Given the description of an element on the screen output the (x, y) to click on. 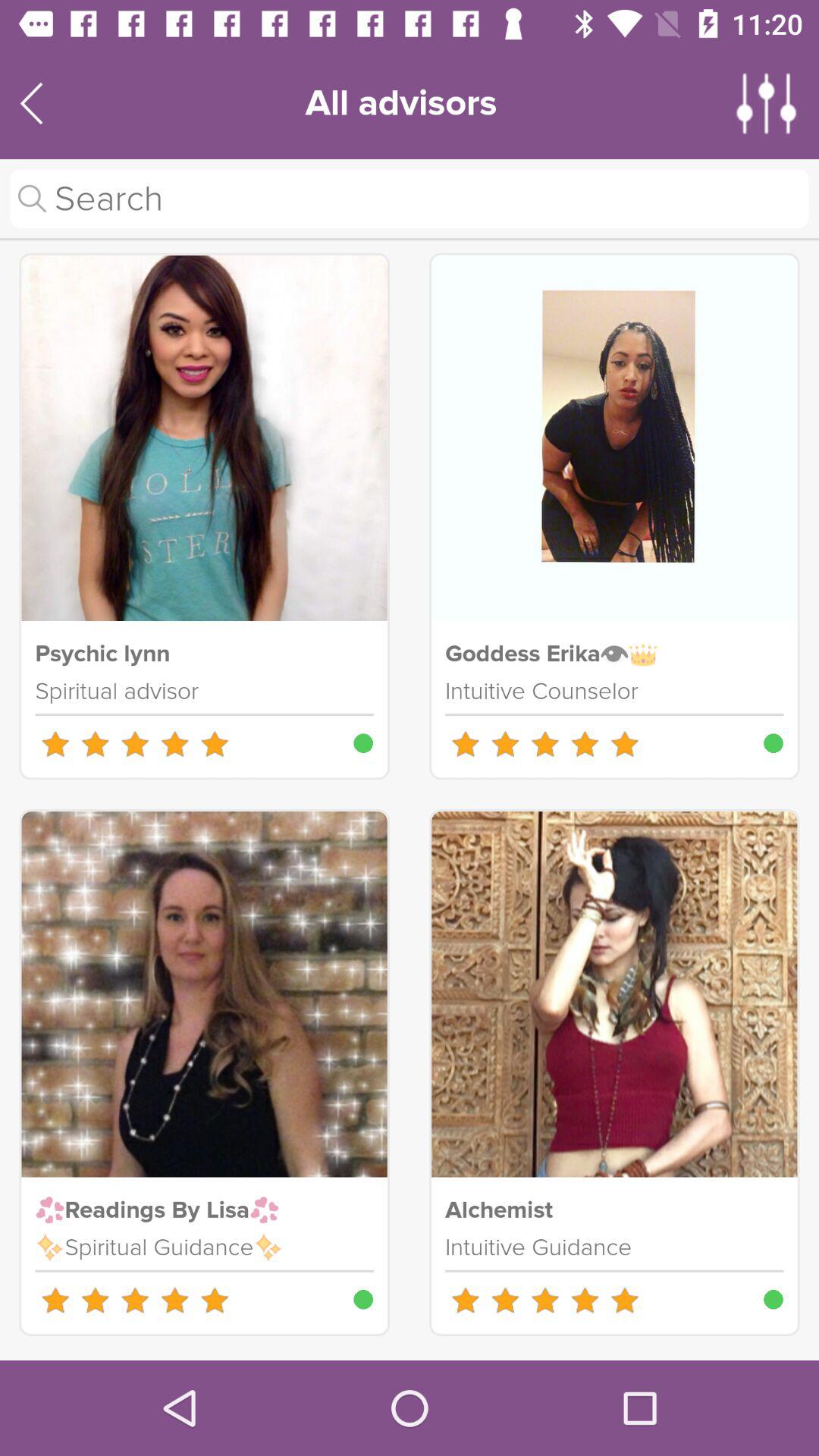
select the item to the right of the all advisors icon (767, 103)
